Given the description of an element on the screen output the (x, y) to click on. 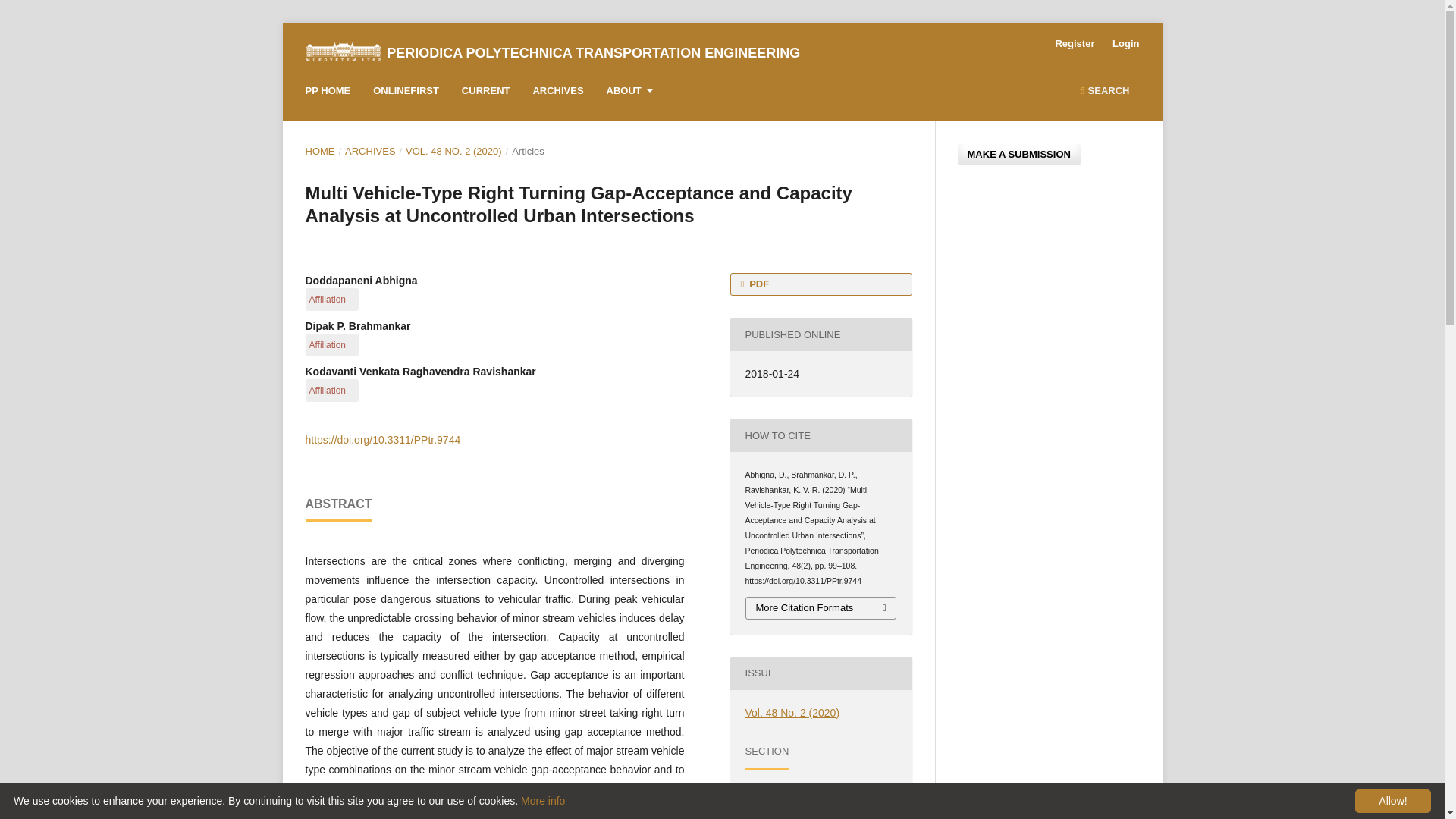
ARCHIVES (557, 92)
Login (1126, 43)
ABOUT (629, 92)
PP HOME (327, 92)
HOME (319, 151)
CURRENT (486, 92)
SEARCH (1104, 92)
PERIODICA POLYTECHNICA TRANSPORTATION ENGINEERING (593, 52)
Register (1074, 43)
ARCHIVES (370, 151)
ONLINEFIRST (406, 92)
More Citation Formats (820, 608)
PDF (820, 283)
